Given the description of an element on the screen output the (x, y) to click on. 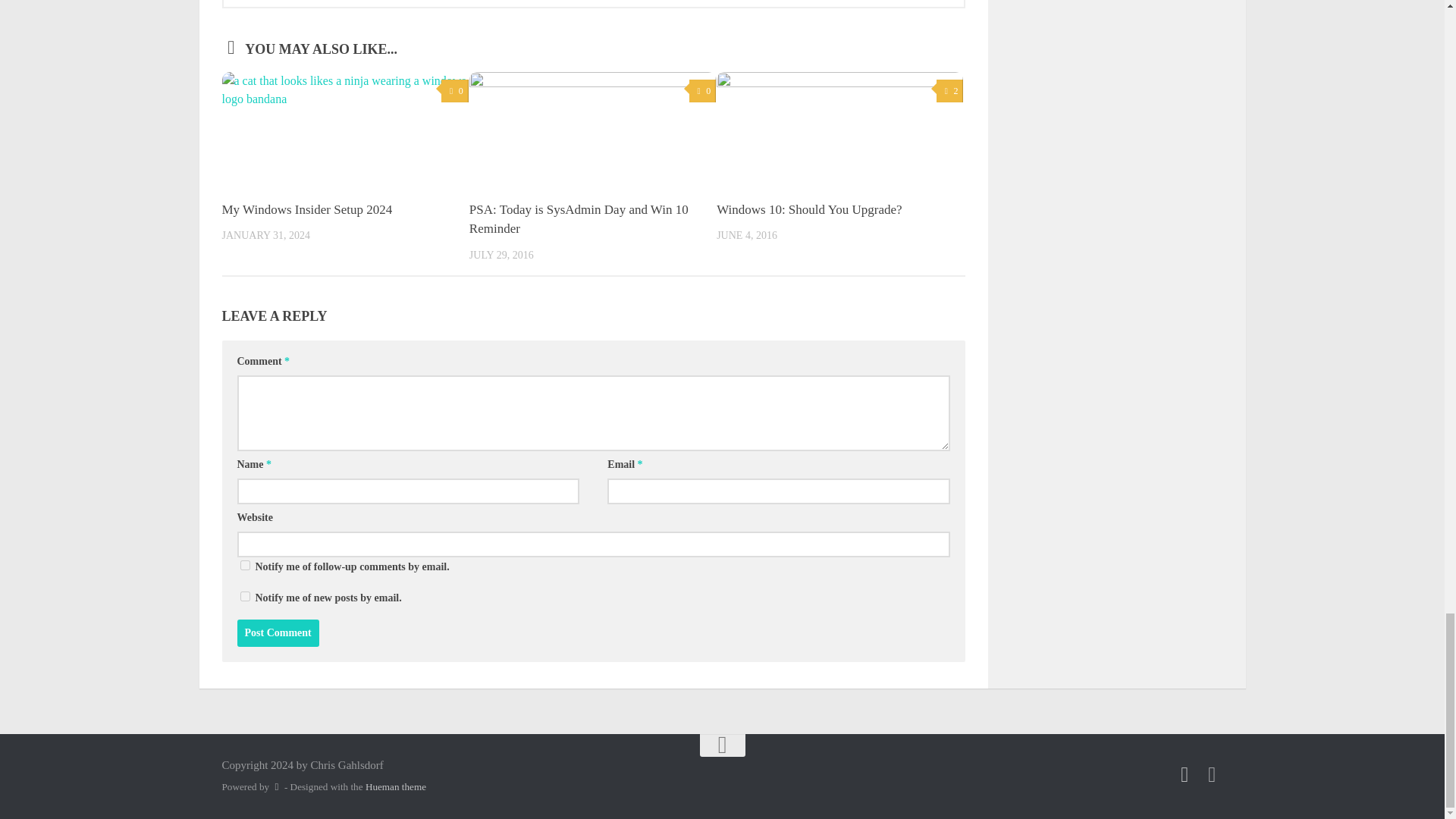
0 (454, 91)
My Windows Insider Setup 2024 (306, 209)
Post Comment (276, 633)
subscribe (244, 596)
PSA: Today is SysAdmin Day and Win 10 Reminder (578, 219)
0 (702, 91)
subscribe (244, 565)
